Given the description of an element on the screen output the (x, y) to click on. 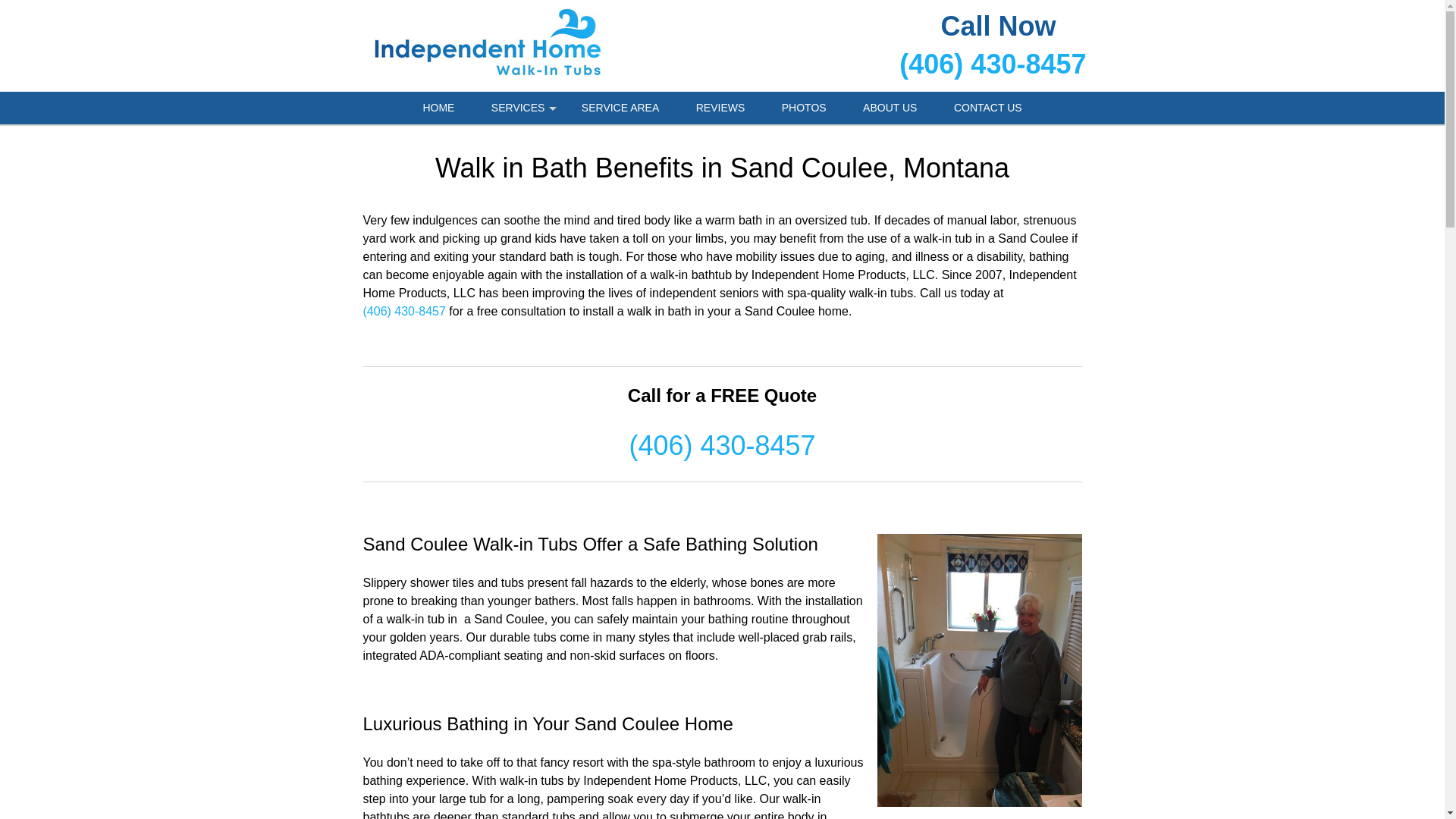
SERVICE AREA (619, 107)
PHOTOS (804, 107)
REVIEWS (720, 107)
CONTACT US (988, 107)
ABOUT US (889, 107)
HOME (438, 107)
